Given the description of an element on the screen output the (x, y) to click on. 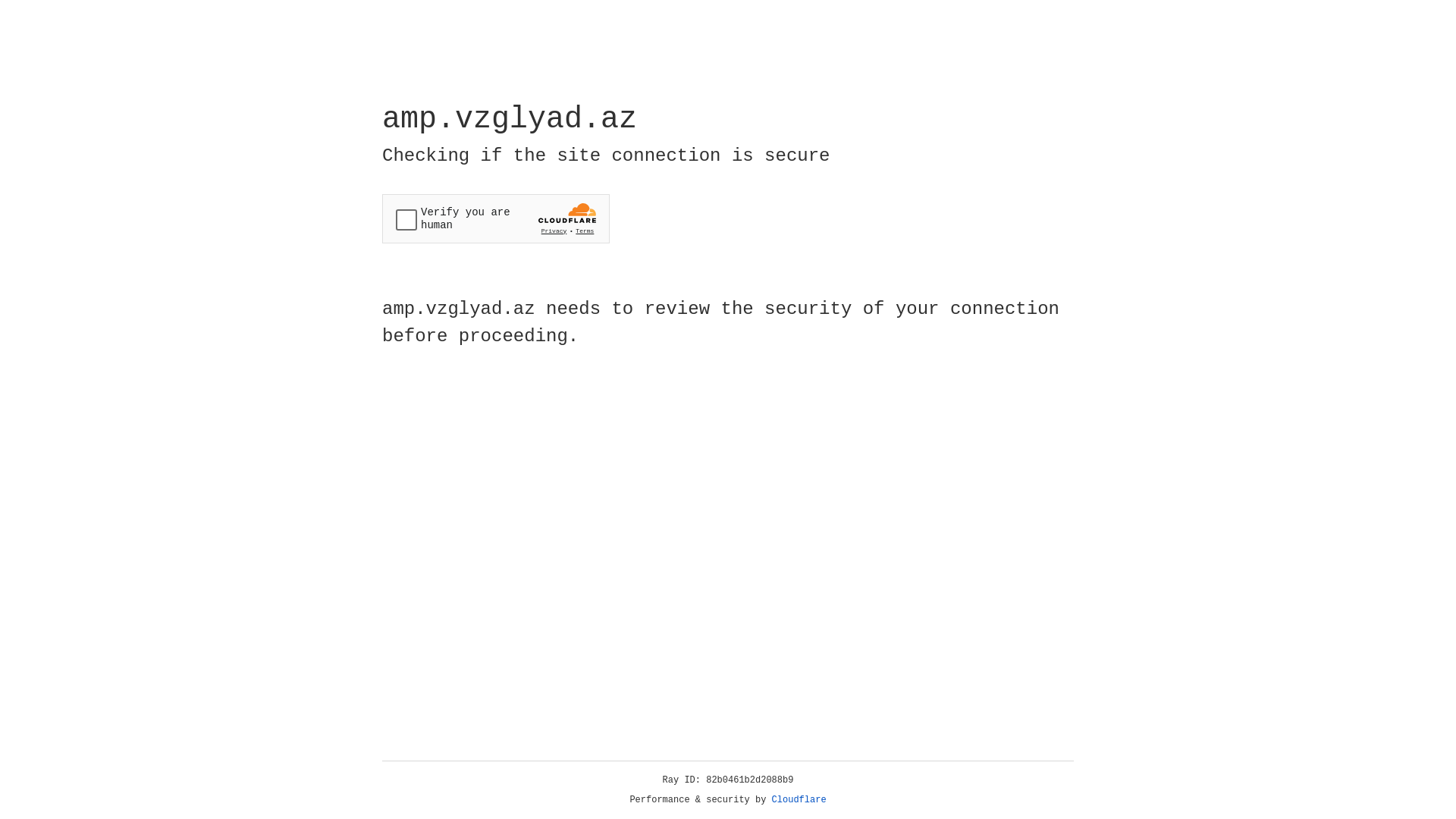
Widget containing a Cloudflare security challenge Element type: hover (495, 218)
Cloudflare Element type: text (798, 799)
